Given the description of an element on the screen output the (x, y) to click on. 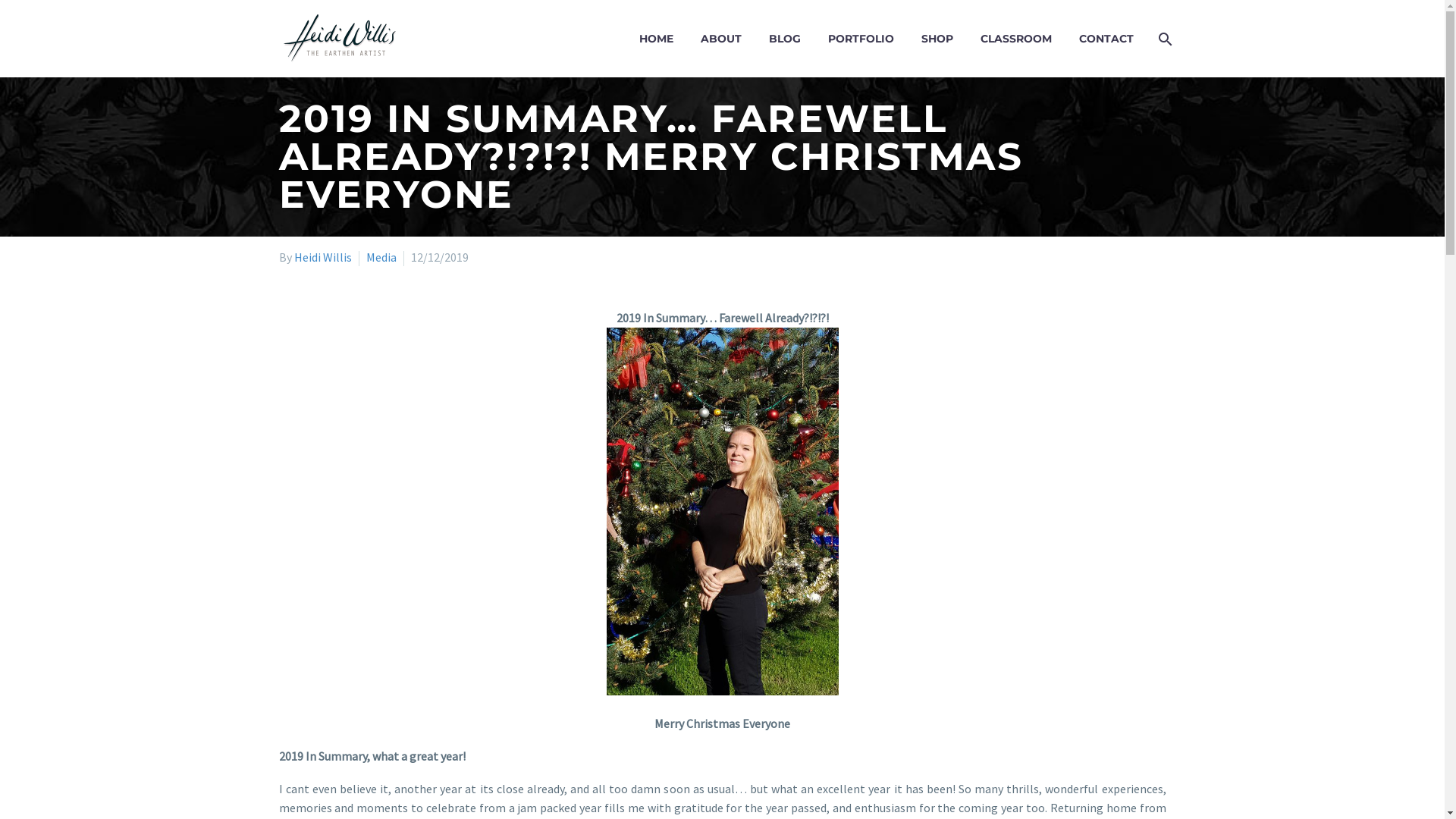
PORTFOLIO Element type: text (859, 37)
ABOUT Element type: text (720, 37)
Media Element type: text (380, 256)
CONTACT Element type: text (1106, 37)
BLOG Element type: text (783, 37)
CLASSROOM Element type: text (1016, 37)
SHOP Element type: text (937, 37)
HOME Element type: text (655, 37)
Heidi Willis Element type: text (322, 256)
